Given the description of an element on the screen output the (x, y) to click on. 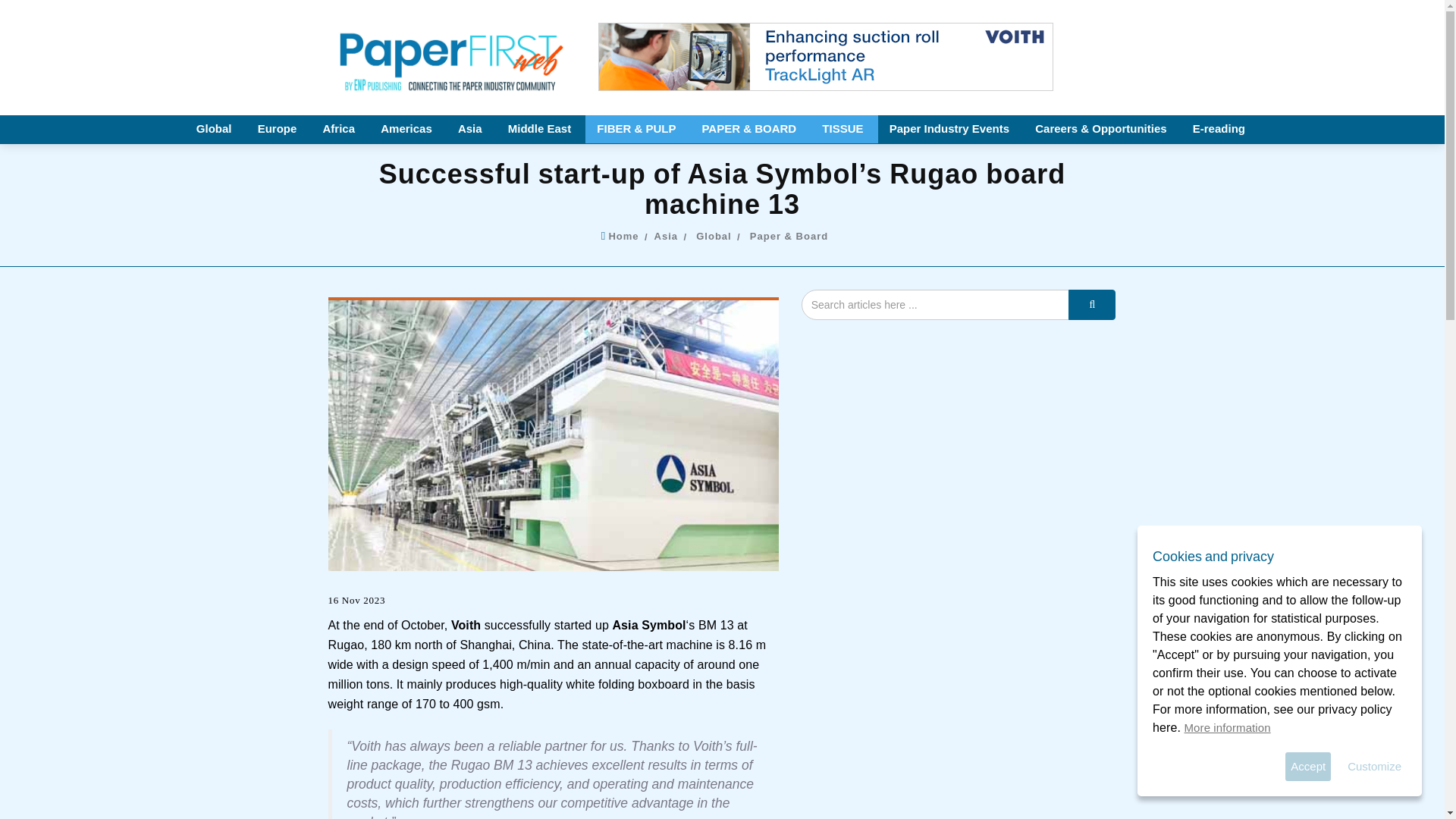
Global (215, 129)
Voith (465, 625)
Europe  (278, 129)
Africa (340, 129)
Global (716, 235)
TISSUE  (843, 129)
16 Nov 2023 (356, 600)
Middle East (541, 129)
Asia Symbol (648, 625)
E-reading  (1219, 129)
Asia  (471, 129)
Africa  (340, 129)
Global  (215, 129)
Asia (669, 235)
Middle East  (541, 129)
